Given the description of an element on the screen output the (x, y) to click on. 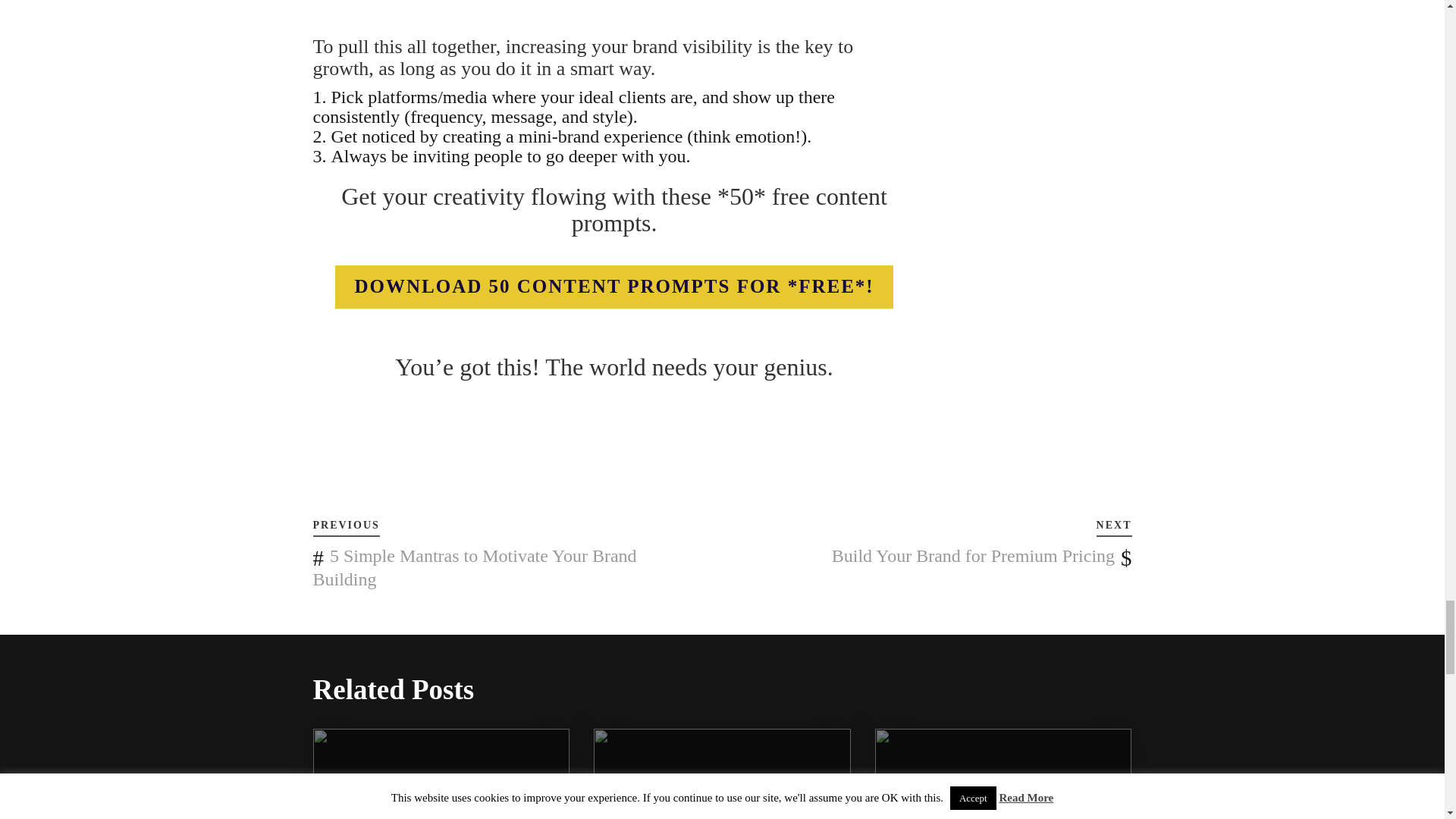
Build Your Brand for Premium Pricing (973, 555)
Master SEO Like a Pro: Keyword Research (1002, 803)
5 Simple Mantras to Motivate Your Brand Building (474, 567)
LinkedIn Marketing Strategies for Success (722, 803)
